Given the description of an element on the screen output the (x, y) to click on. 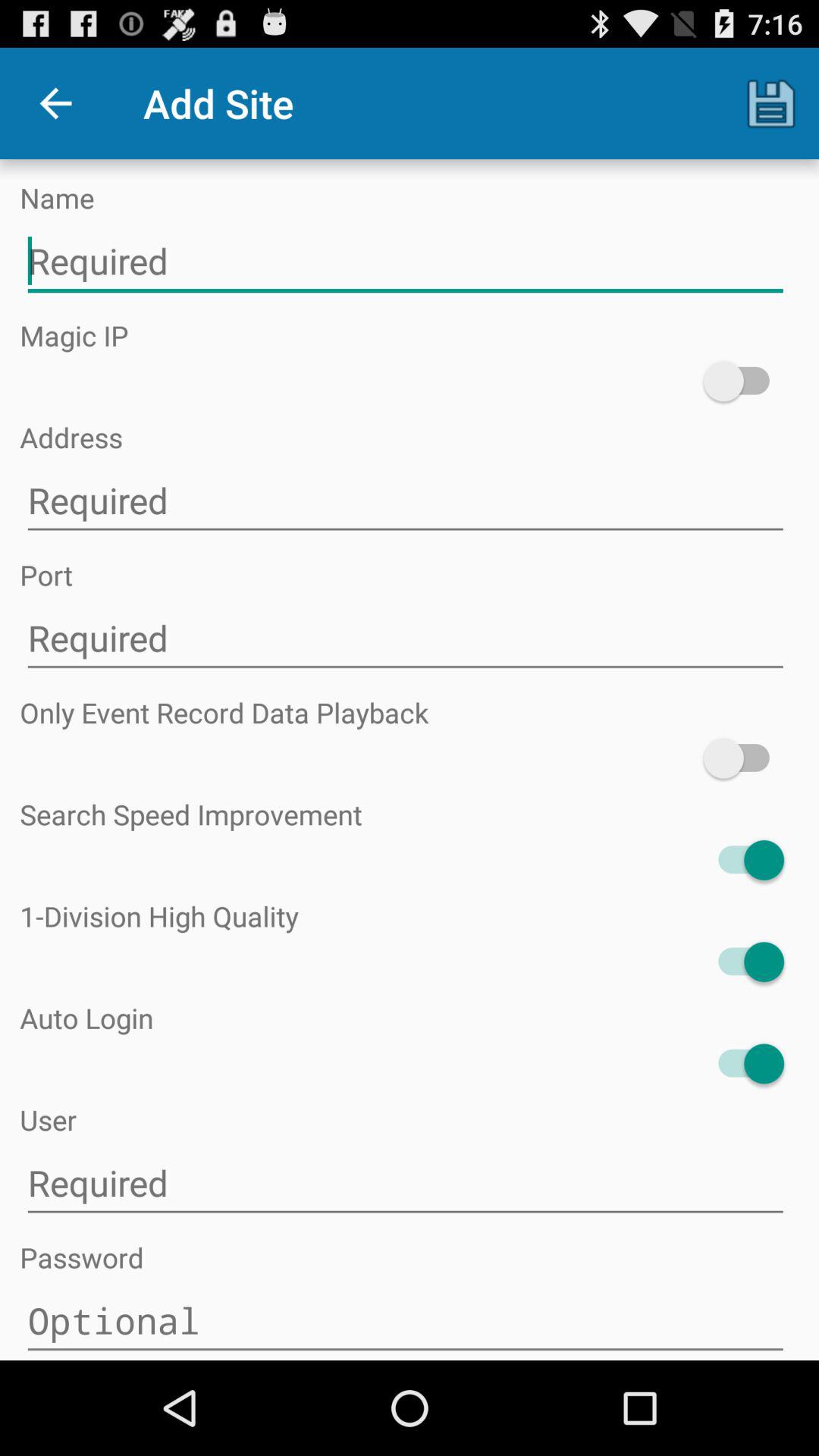
check mark for actvate this function (743, 381)
